Given the description of an element on the screen output the (x, y) to click on. 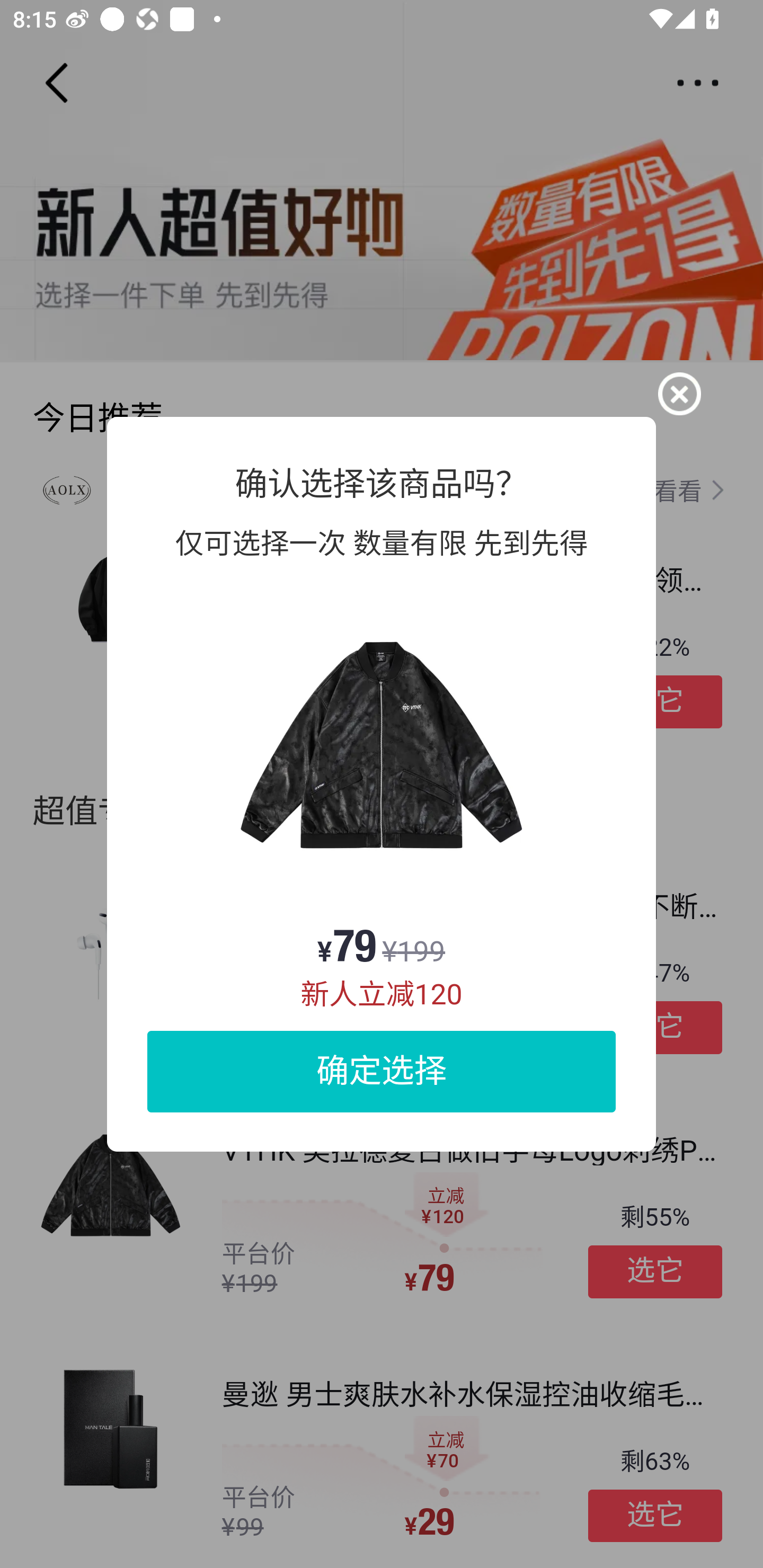
确定选择 (381, 1070)
